Given the description of an element on the screen output the (x, y) to click on. 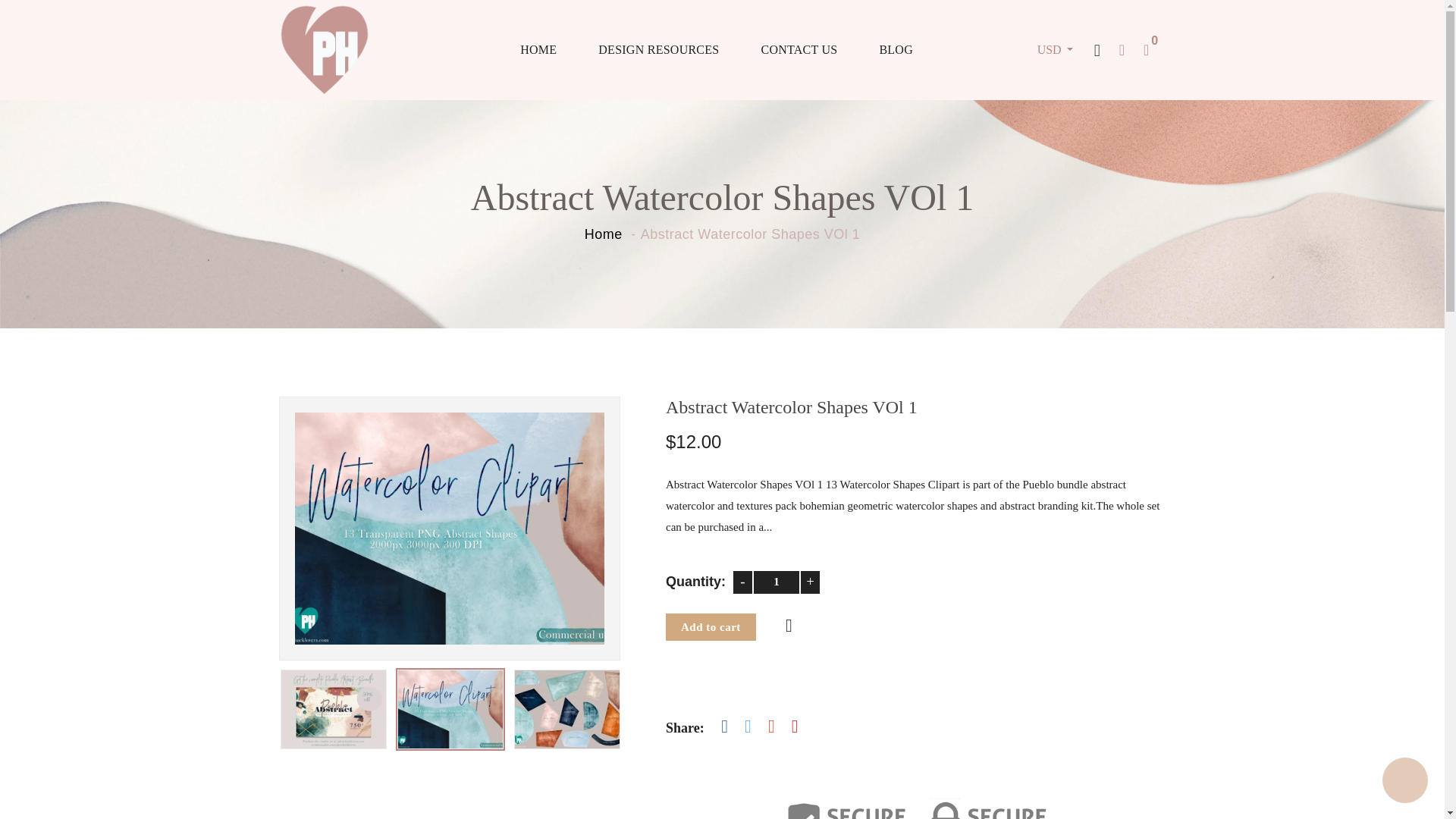
Home (604, 233)
Wishlist (787, 627)
DESIGN RESOURCES (658, 49)
Back to the home page (604, 233)
1 (776, 581)
CONTACT US (798, 49)
